Given the description of an element on the screen output the (x, y) to click on. 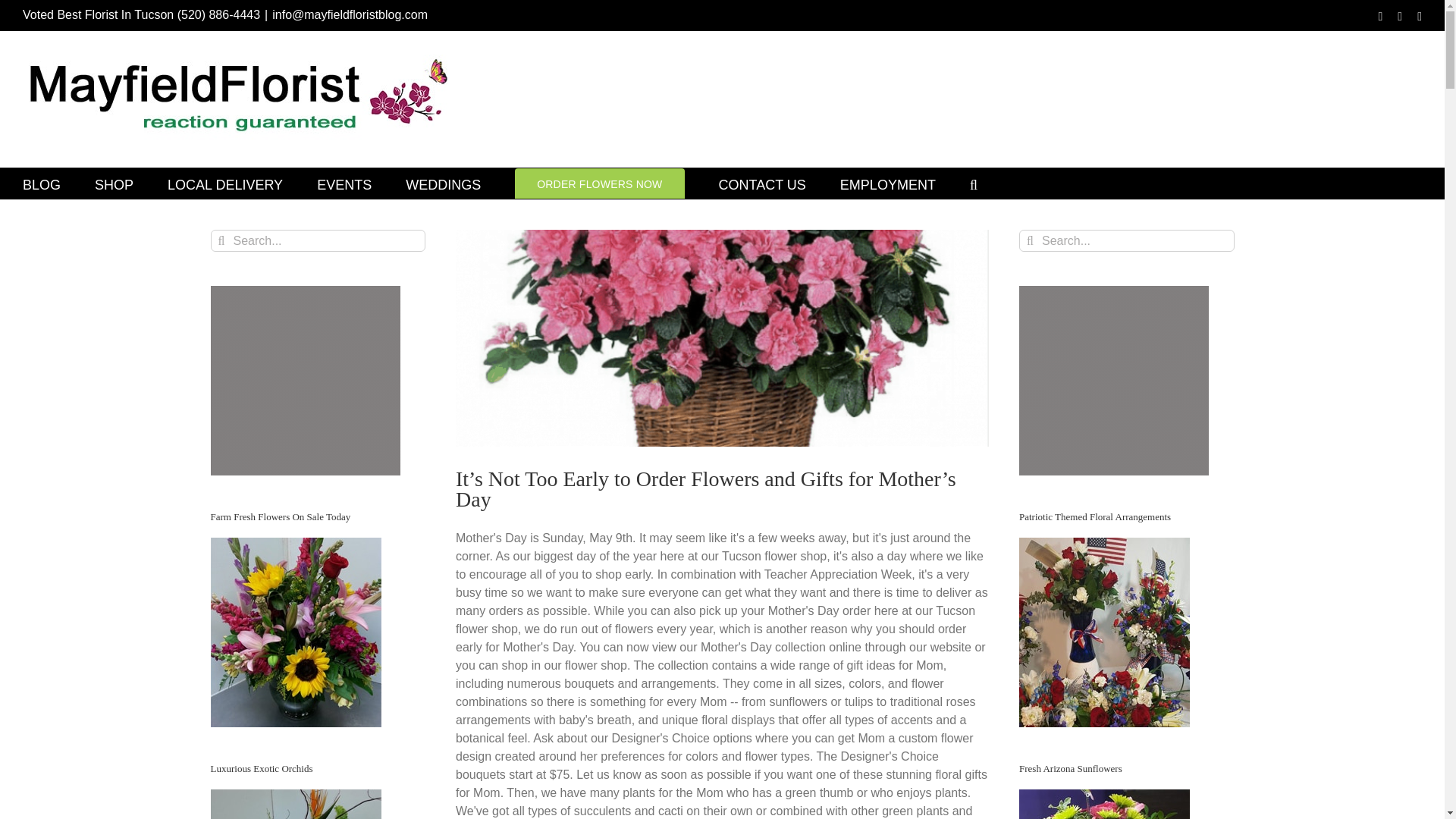
Voted Best Tucson Florist (113, 183)
EMPLOYMENT (888, 183)
ORDER FLOWERS NOW (599, 183)
EVENTS (344, 183)
WEDDINGS (443, 183)
LOCAL DELIVERY (224, 183)
BLOG (42, 183)
CONTACT US (762, 183)
SHOP (113, 183)
Mayfield Florist, Tucson AZ Flower Shop (224, 183)
